Given the description of an element on the screen output the (x, y) to click on. 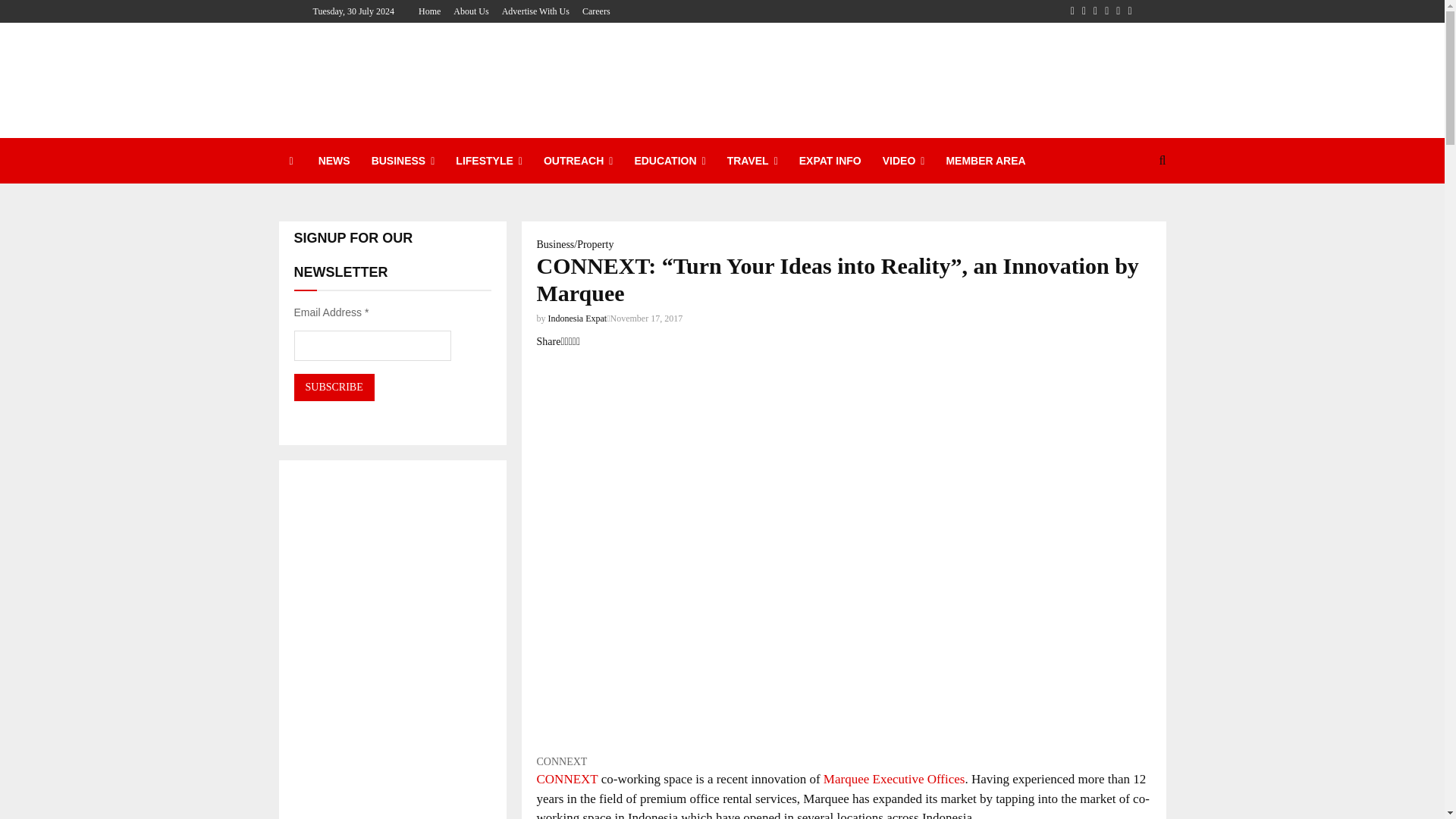
Advertise With Us (535, 11)
VIDEO (904, 160)
LIFESTYLE (488, 160)
About Us (469, 11)
EXPAT INFO (830, 160)
Subscribe (334, 387)
Home (430, 11)
OUTREACH (577, 160)
TRAVEL (752, 160)
NEWS (334, 160)
EDUCATION (669, 160)
Careers (596, 11)
BUSINESS (403, 160)
MEMBER AREA (984, 160)
